Given the description of an element on the screen output the (x, y) to click on. 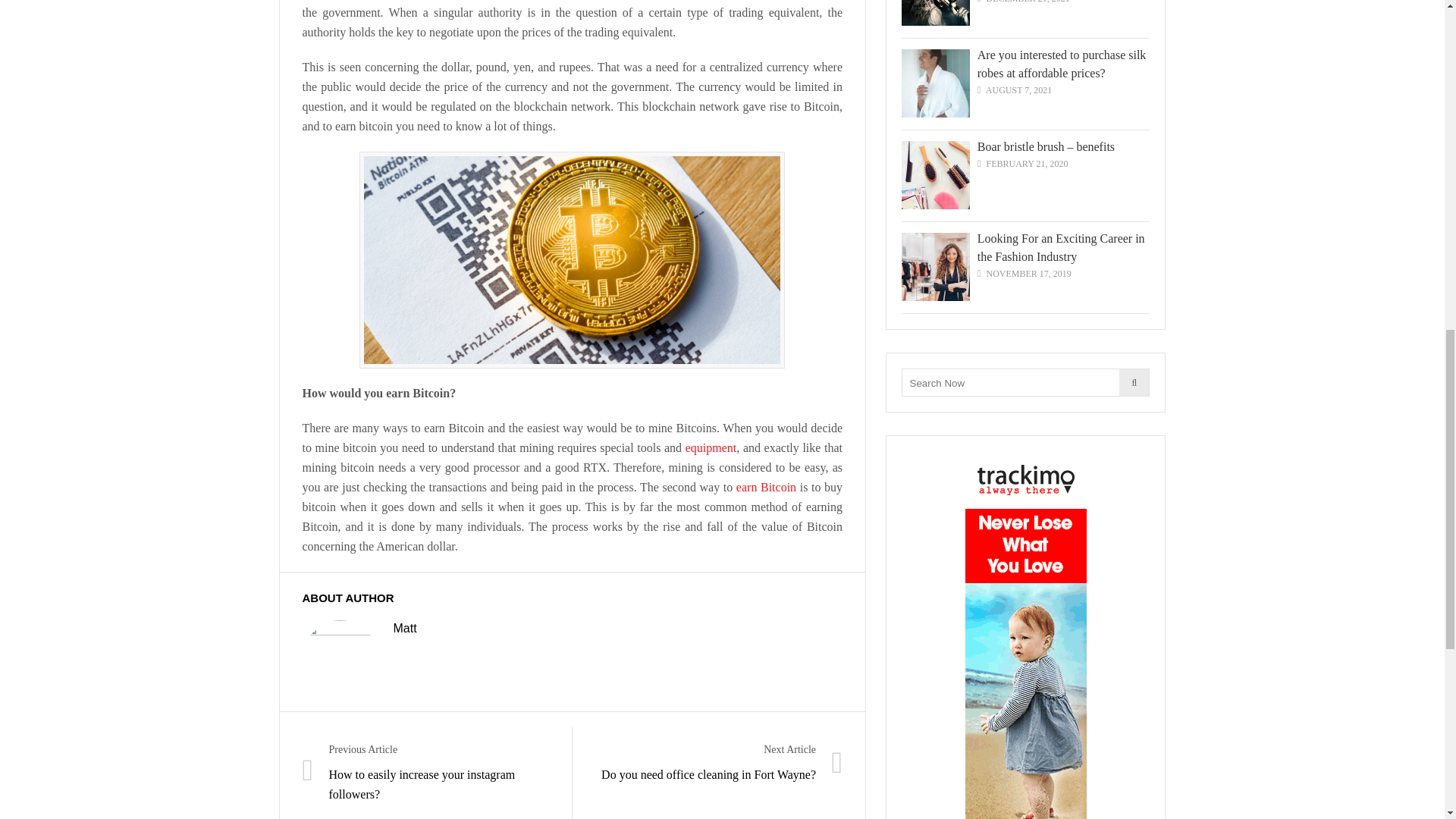
earn Bitcoin (766, 486)
How to easily increase your instagram followers? (422, 784)
Looking For an Exciting Career in the Fashion Industry (1060, 246)
Do you need office cleaning in Fort Wayne? (708, 774)
equipment (710, 447)
